Given the description of an element on the screen output the (x, y) to click on. 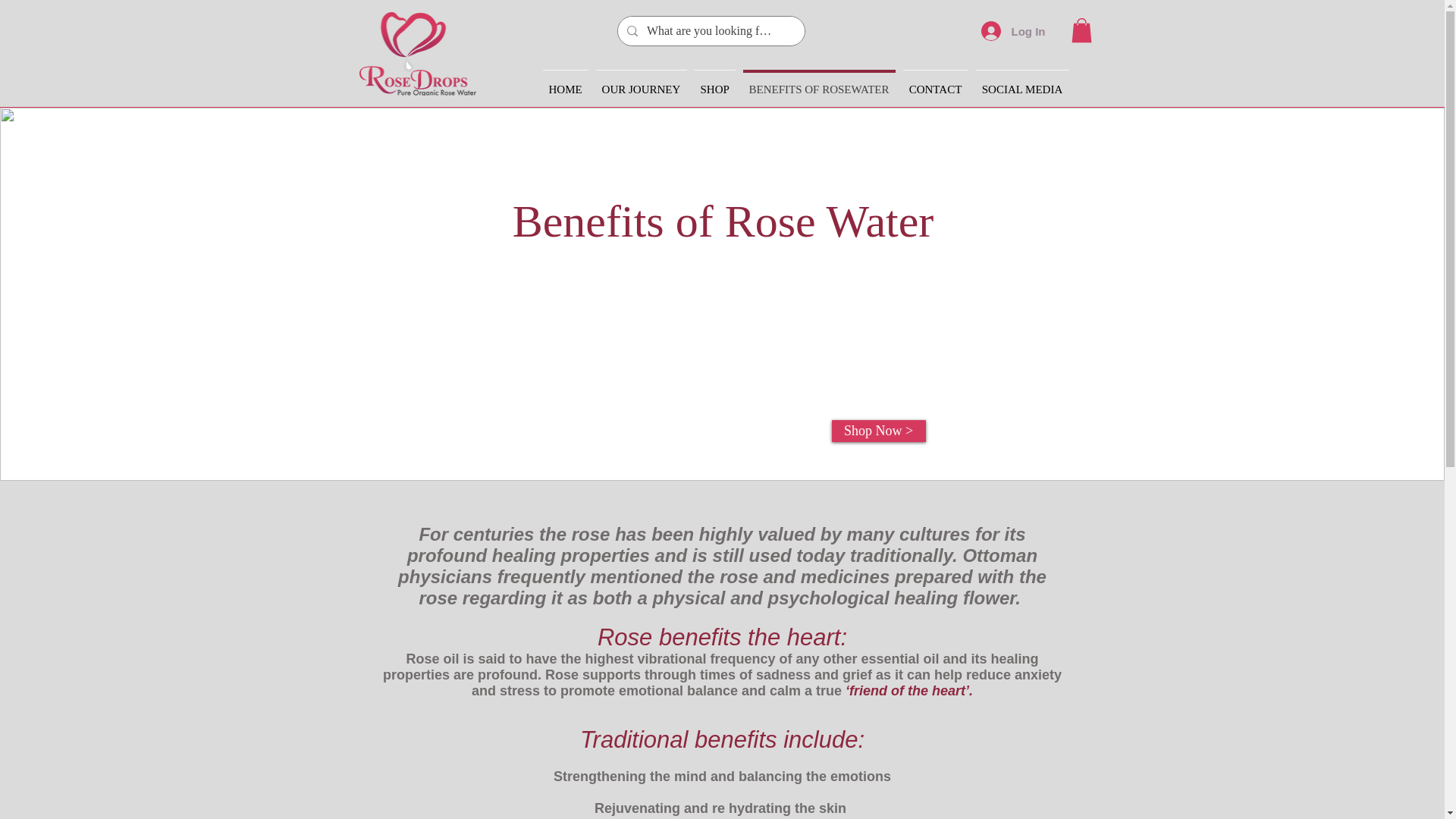
SOCIAL MEDIA (1022, 82)
BENEFITS OF ROSEWATER (818, 82)
HOME (564, 82)
Rose Drops (417, 53)
OUR JOURNEY (640, 82)
Log In (1014, 30)
CONTACT (935, 82)
SHOP (714, 82)
